Given the description of an element on the screen output the (x, y) to click on. 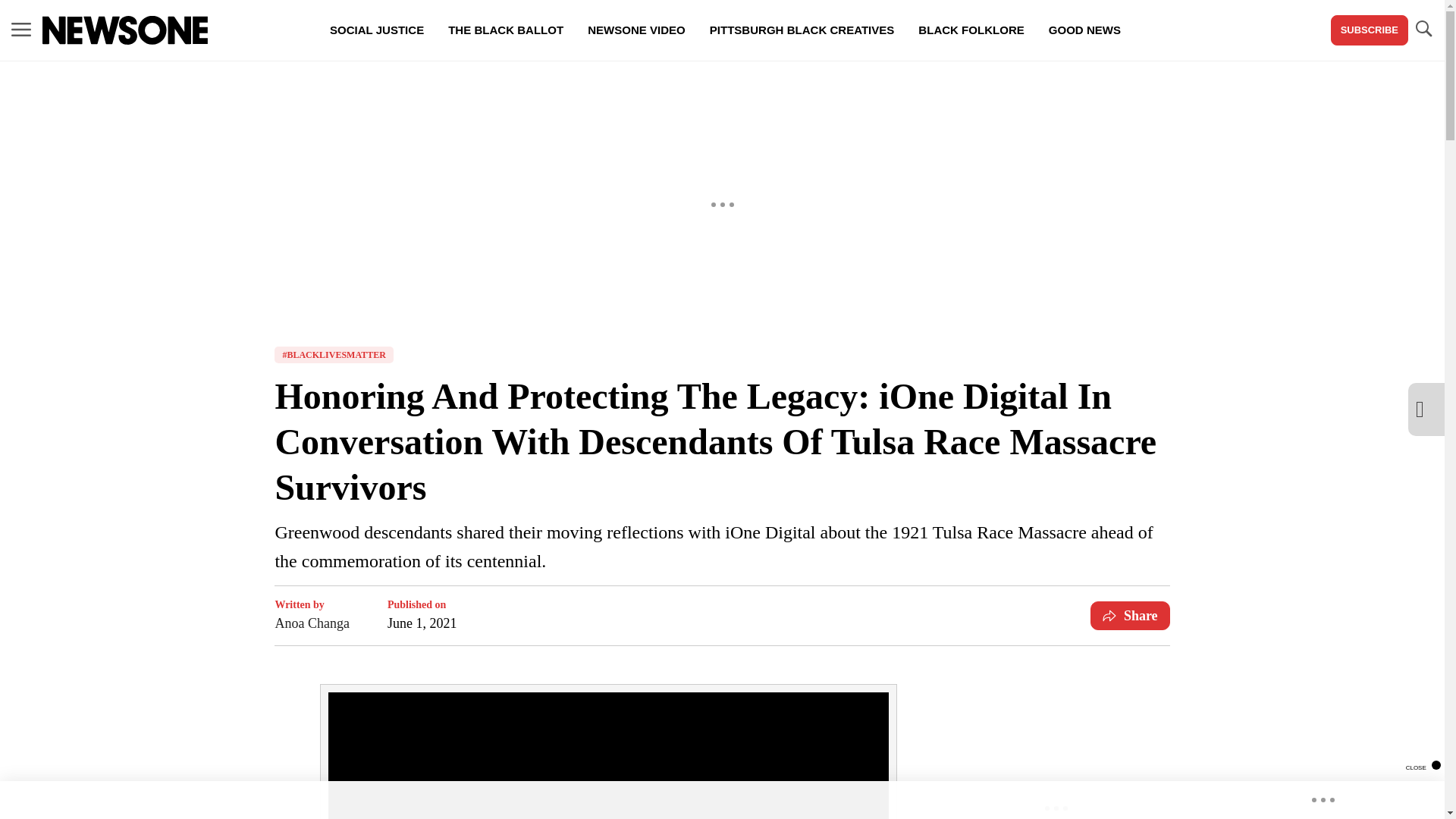
BLACK FOLKLORE (970, 30)
TOGGLE SEARCH (1422, 28)
TOGGLE SEARCH (1422, 30)
GOOD NEWS (1084, 30)
THE BLACK BALLOT (505, 30)
Anoa Changa (312, 622)
MENU (20, 29)
NEWSONE VIDEO (636, 30)
SOCIAL JUSTICE (376, 30)
MENU (20, 30)
